Given the description of an element on the screen output the (x, y) to click on. 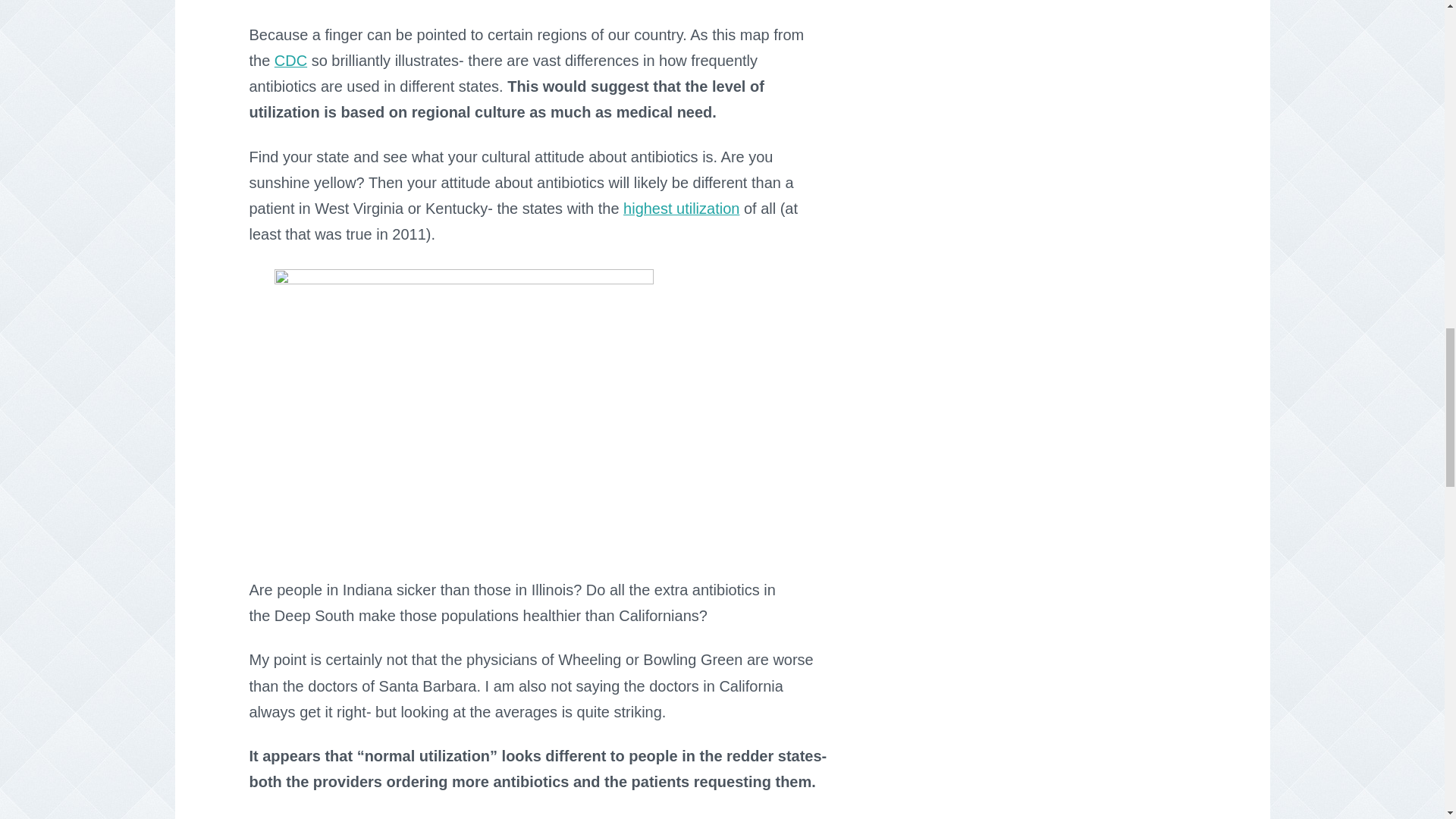
highest utilization (681, 208)
CDC (291, 60)
